Given the description of an element on the screen output the (x, y) to click on. 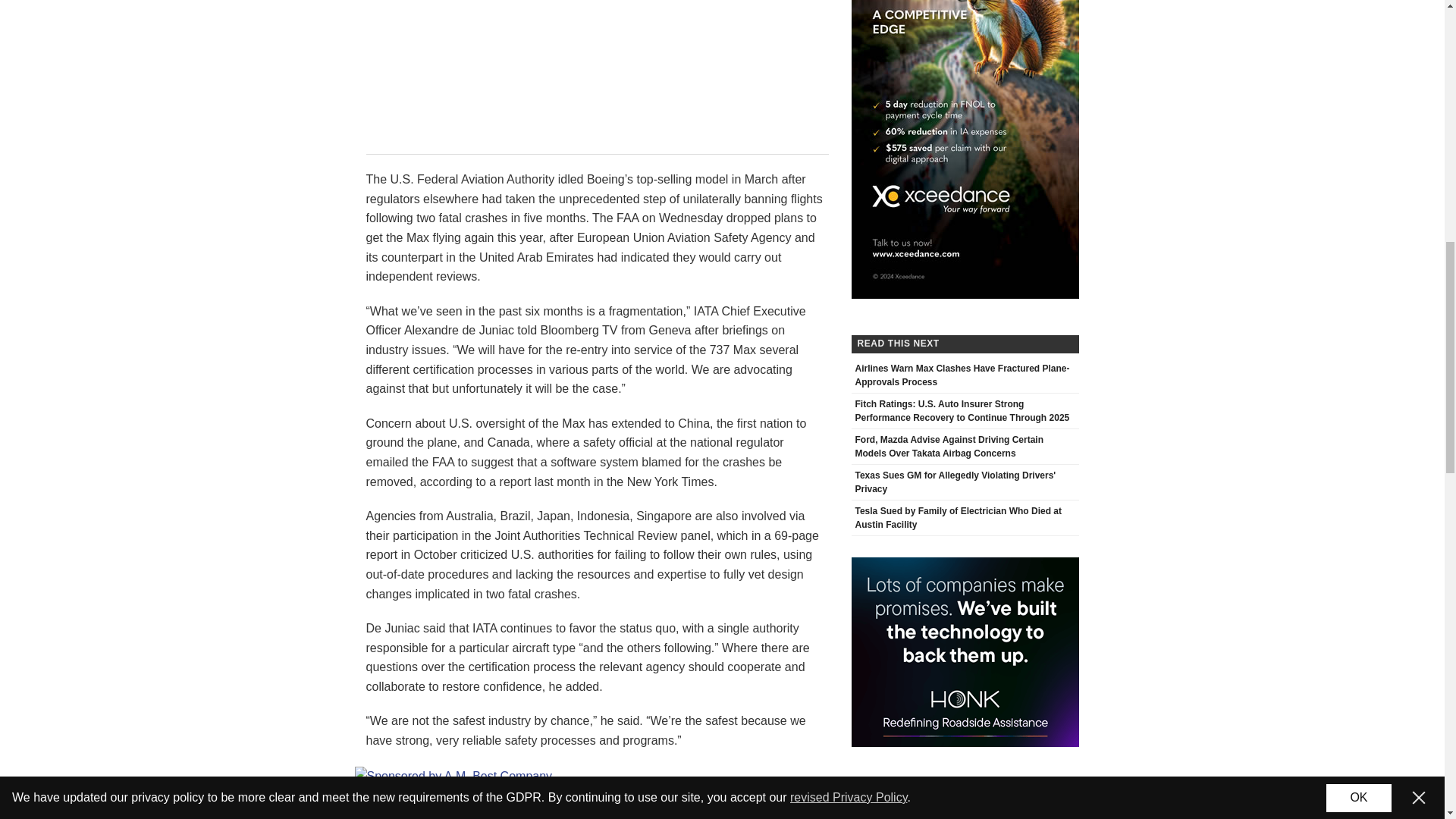
Sponsored by HONK Technologies (964, 651)
Sponsored by A.M. Best Company (454, 776)
Sponsored by Xceedance (964, 35)
